Given the description of an element on the screen output the (x, y) to click on. 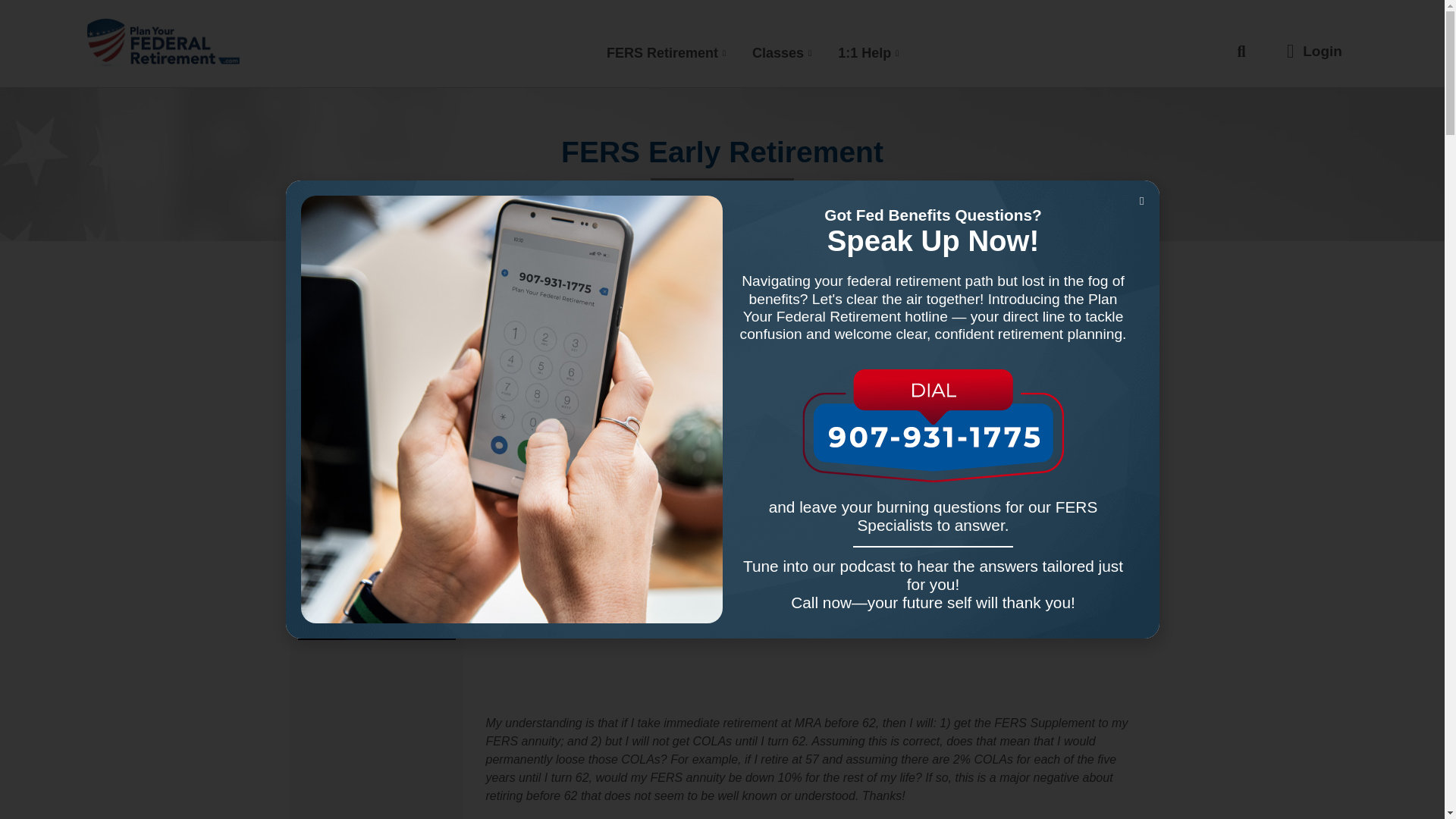
FERS Retirement (668, 53)
